Given the description of an element on the screen output the (x, y) to click on. 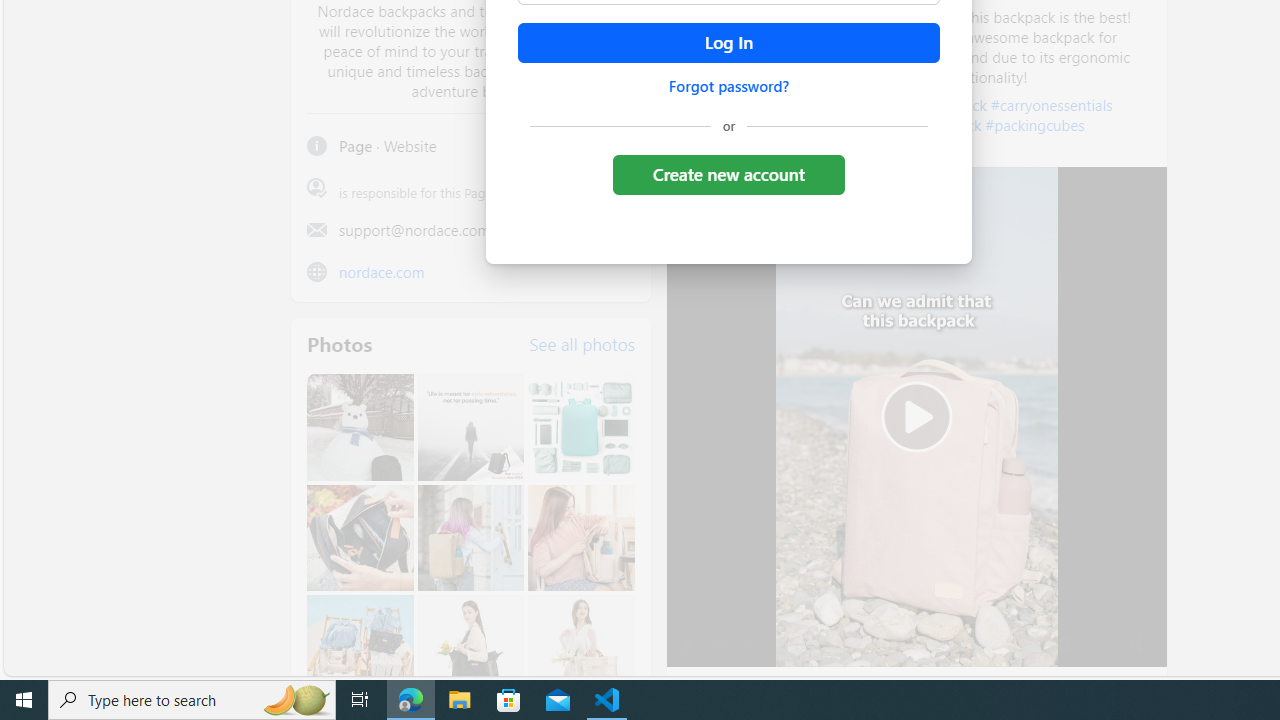
Accessible login button (728, 43)
Forgot password? (728, 85)
Create new account (728, 174)
